Given the description of an element on the screen output the (x, y) to click on. 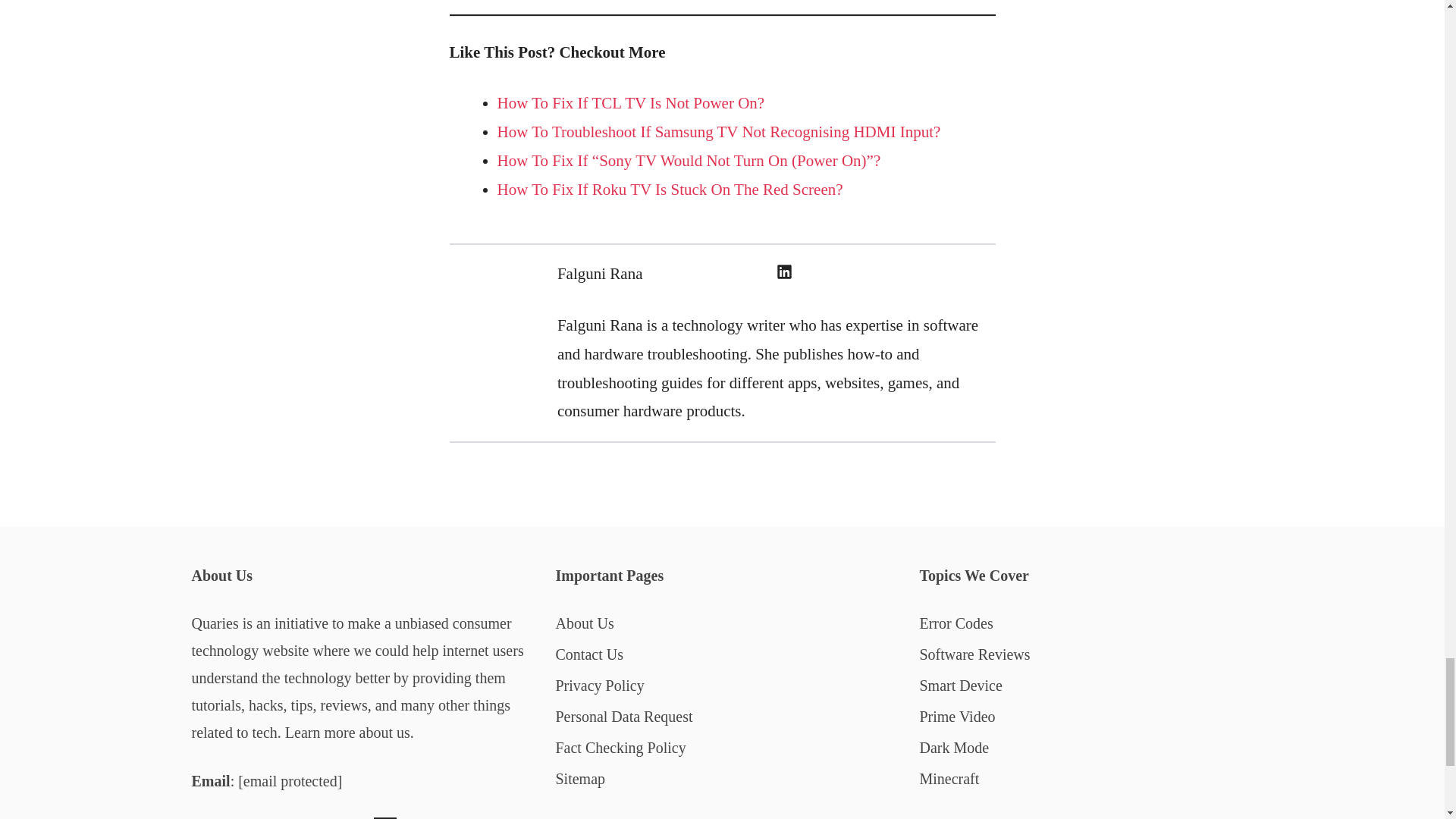
Falguni Rana (600, 273)
Learn more about us (347, 732)
How To Fix If Roku TV Is Stuck On The Red Screen? (670, 189)
How To Fix If TCL TV Is Not Power On? (631, 103)
